Given the description of an element on the screen output the (x, y) to click on. 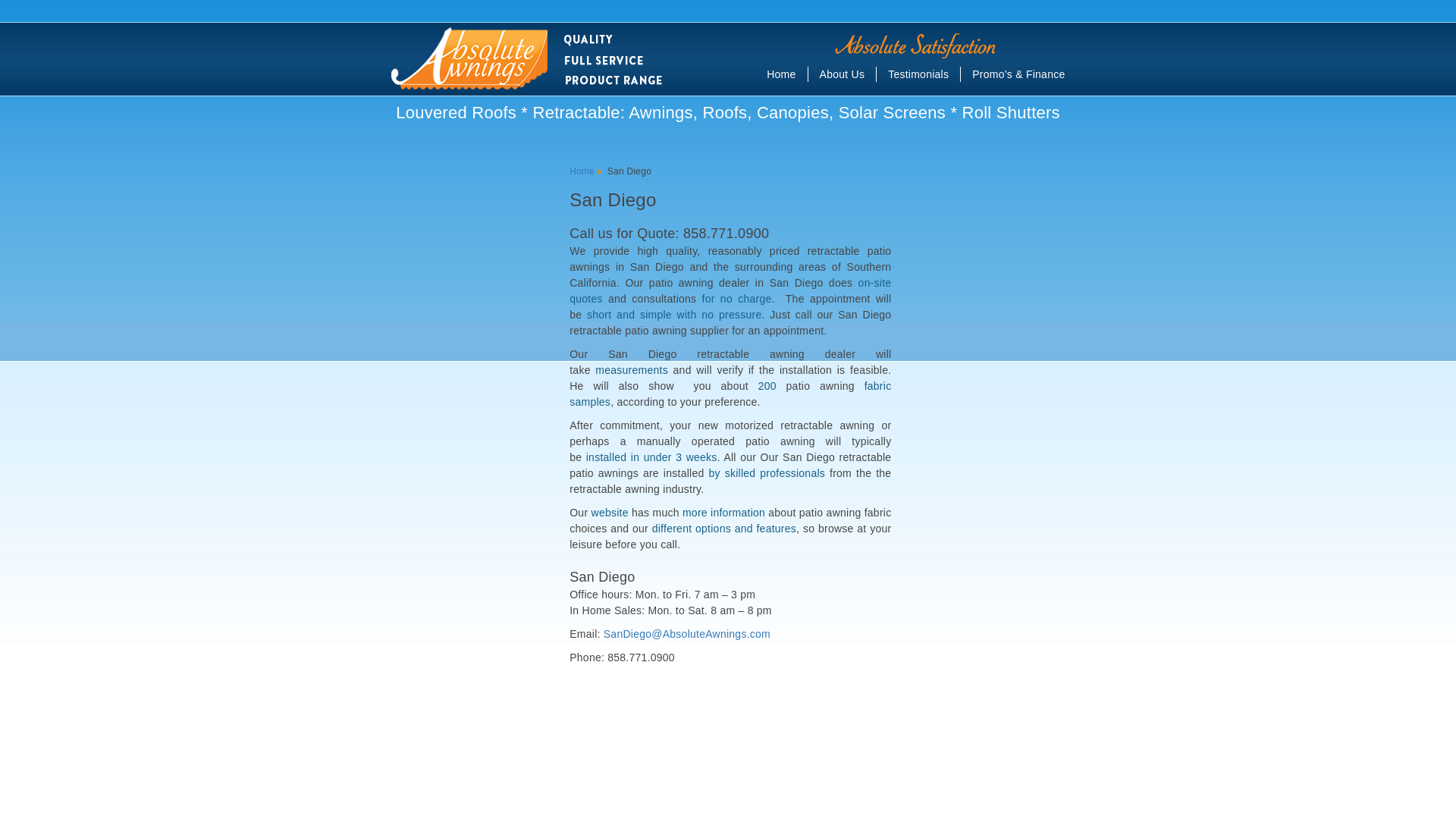
Home (787, 73)
Home (787, 73)
Home (581, 171)
About Us (848, 73)
Testimonials (924, 73)
Testimonials (924, 73)
About Us (848, 73)
